Given the description of an element on the screen output the (x, y) to click on. 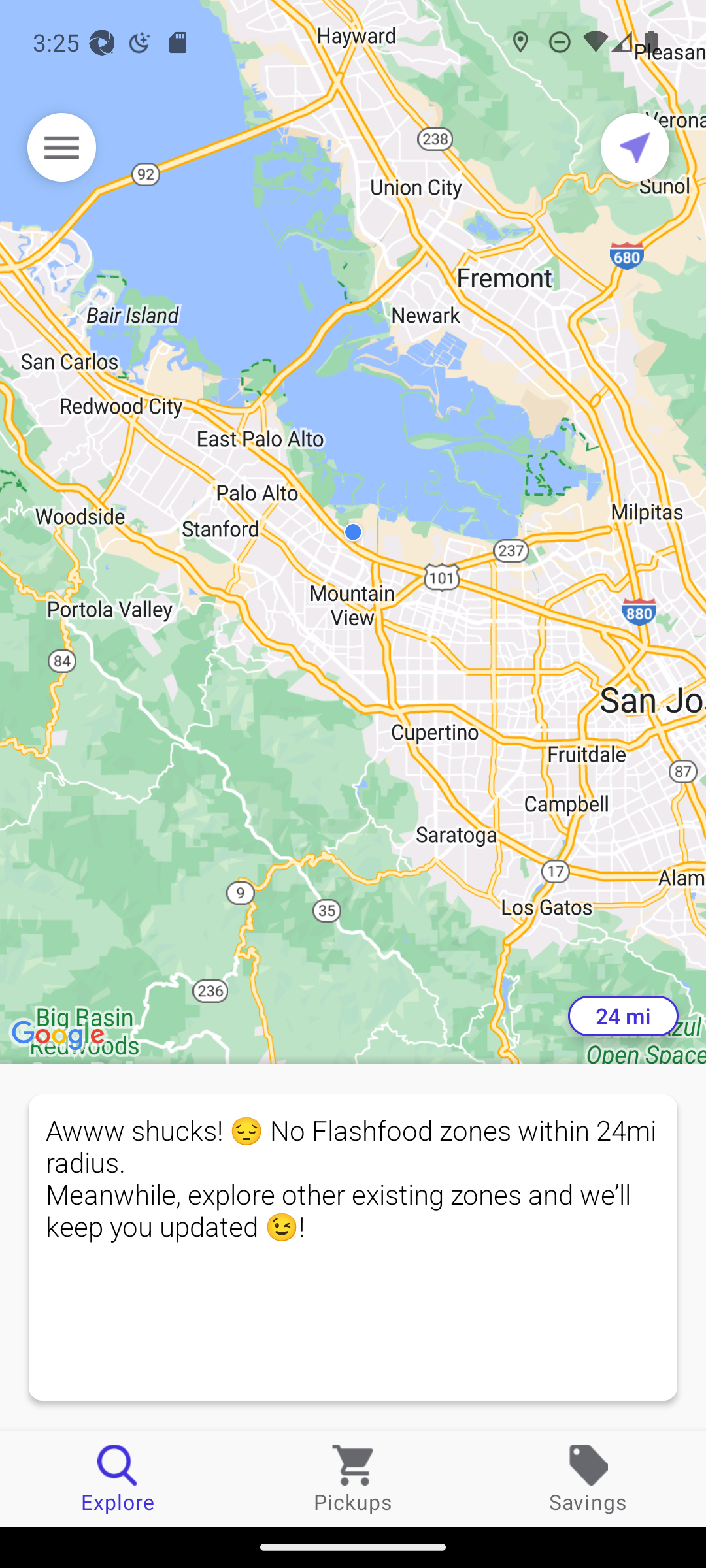
Menu (61, 146)
Current location (634, 146)
24 mi (623, 1015)
Pickups (352, 1478)
Savings (588, 1478)
